Given the description of an element on the screen output the (x, y) to click on. 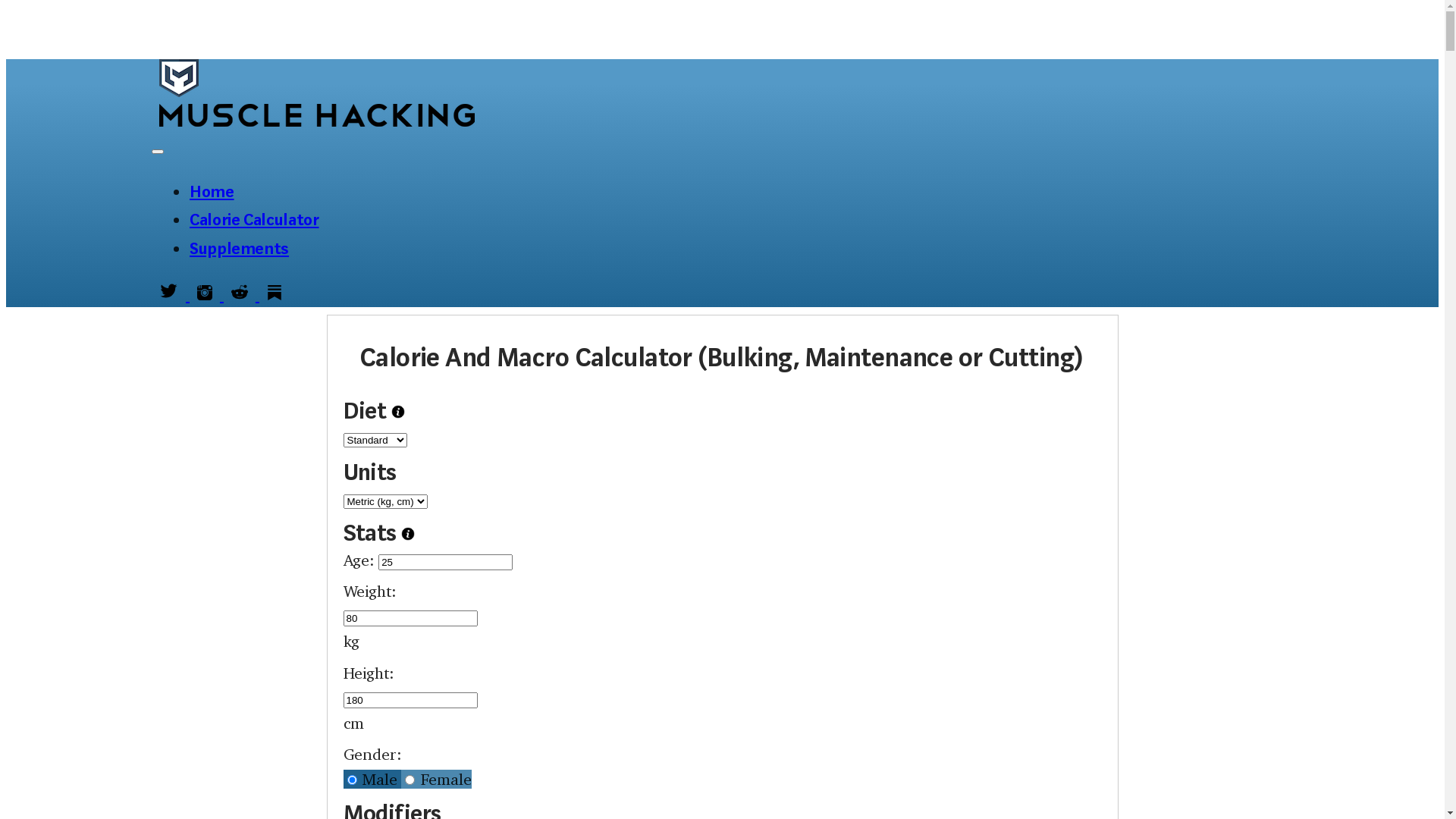
Calorie Calculator Element type: text (254, 219)
Email Me Element type: text (1343, 160)
Muscle Hacking on Twitter Element type: hover (170, 294)
Supplements Element type: text (238, 248)
Home Element type: text (211, 191)
Muscle Hacking on Instagram Element type: hover (206, 294)
Muscle Hacking on Reddit Element type: hover (241, 294)
Muscle Hacking on Substack Element type: hover (274, 294)
